Given the description of an element on the screen output the (x, y) to click on. 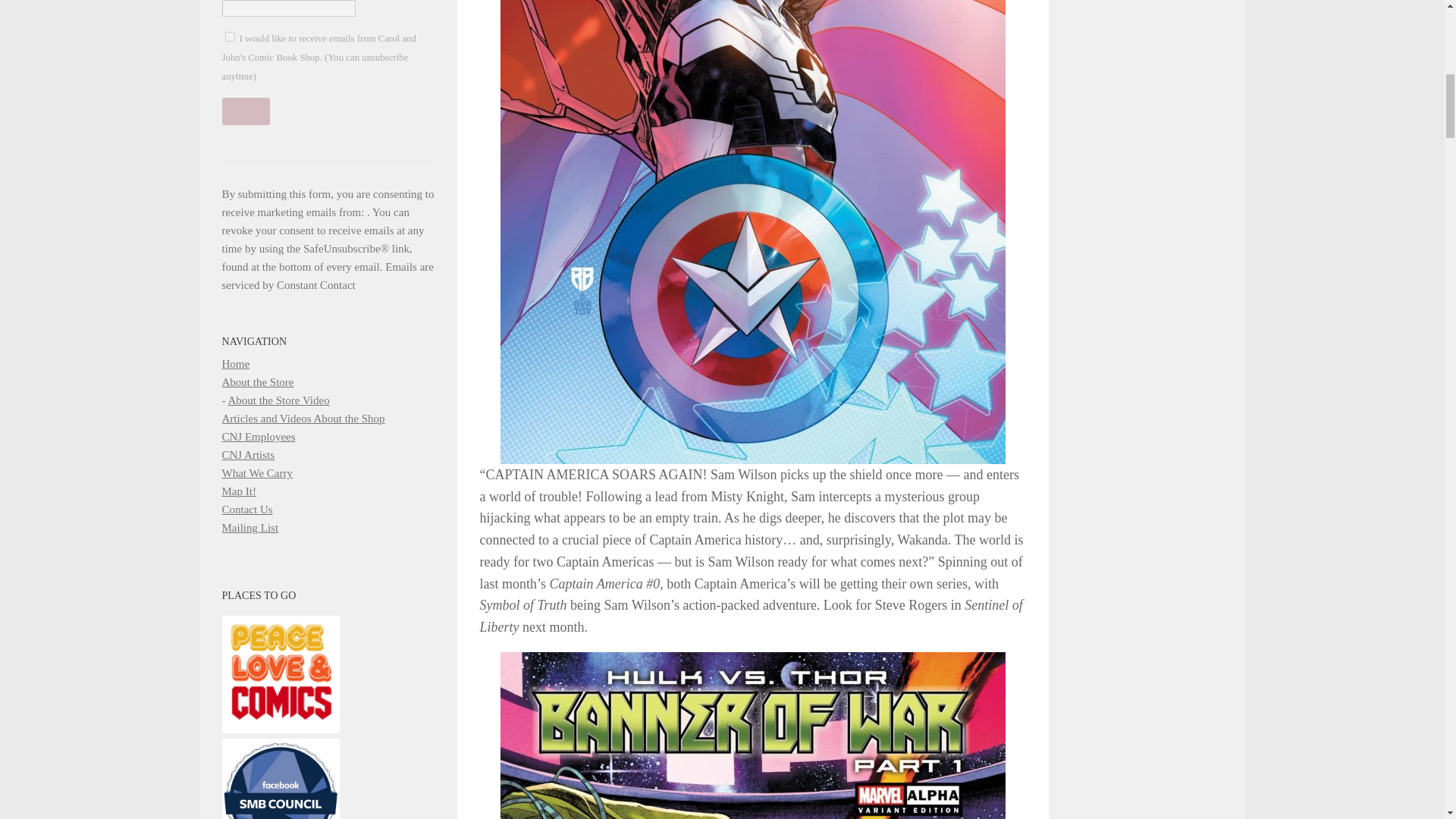
Sign up (245, 111)
Sign up (245, 111)
CNJ Employees (258, 436)
CNJ Artists (248, 454)
Articles and Videos About the Shop (302, 418)
About the Store Video (278, 399)
1 (229, 36)
About the Store (257, 381)
Home (234, 363)
Emails are serviced by Constant Contact (327, 276)
